Given the description of an element on the screen output the (x, y) to click on. 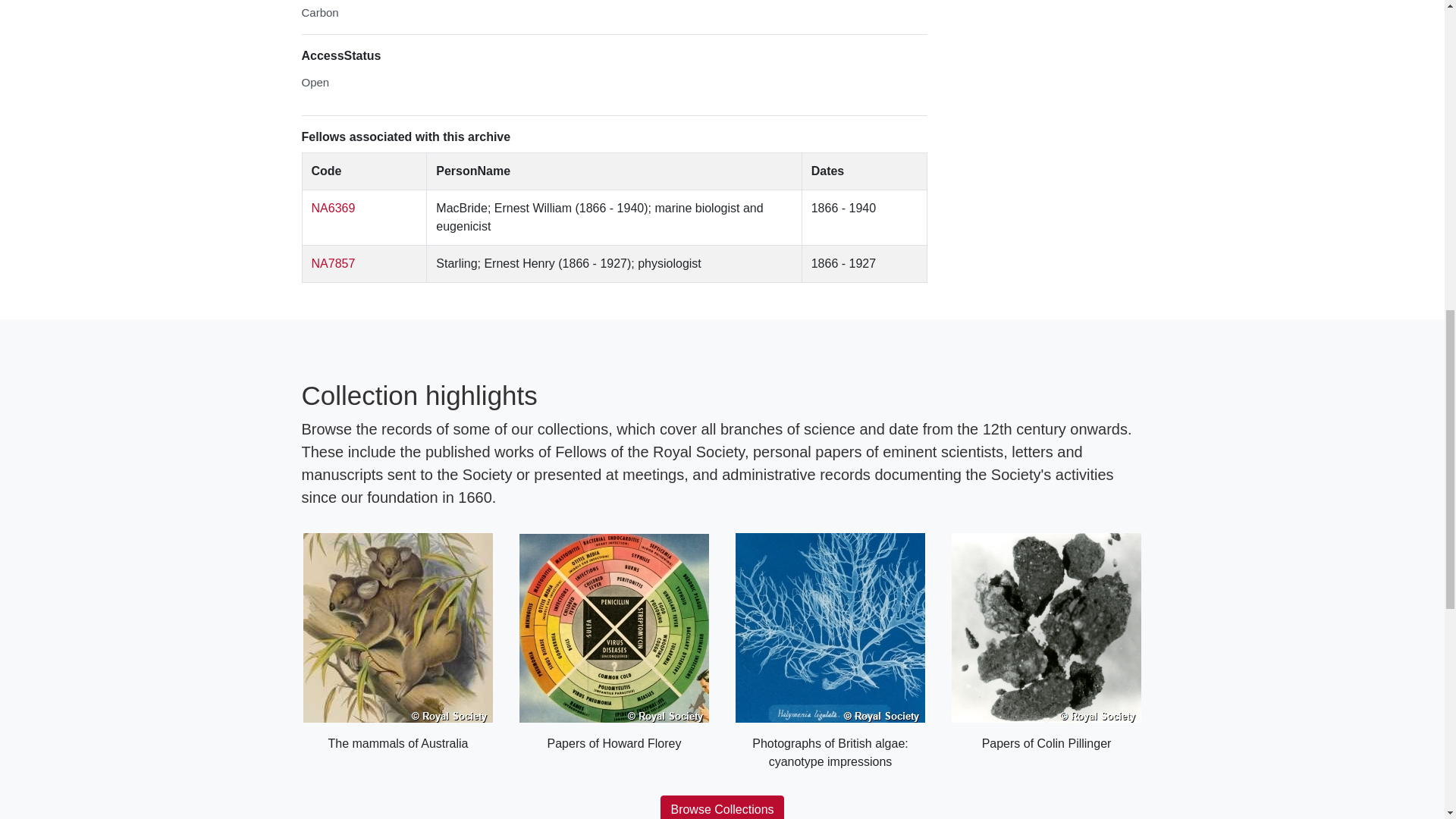
Show related Persons records. (333, 207)
NA6369 (333, 207)
Show related Persons records. (333, 263)
Browse Collections (722, 807)
NA7857 (333, 263)
